Given the description of an element on the screen output the (x, y) to click on. 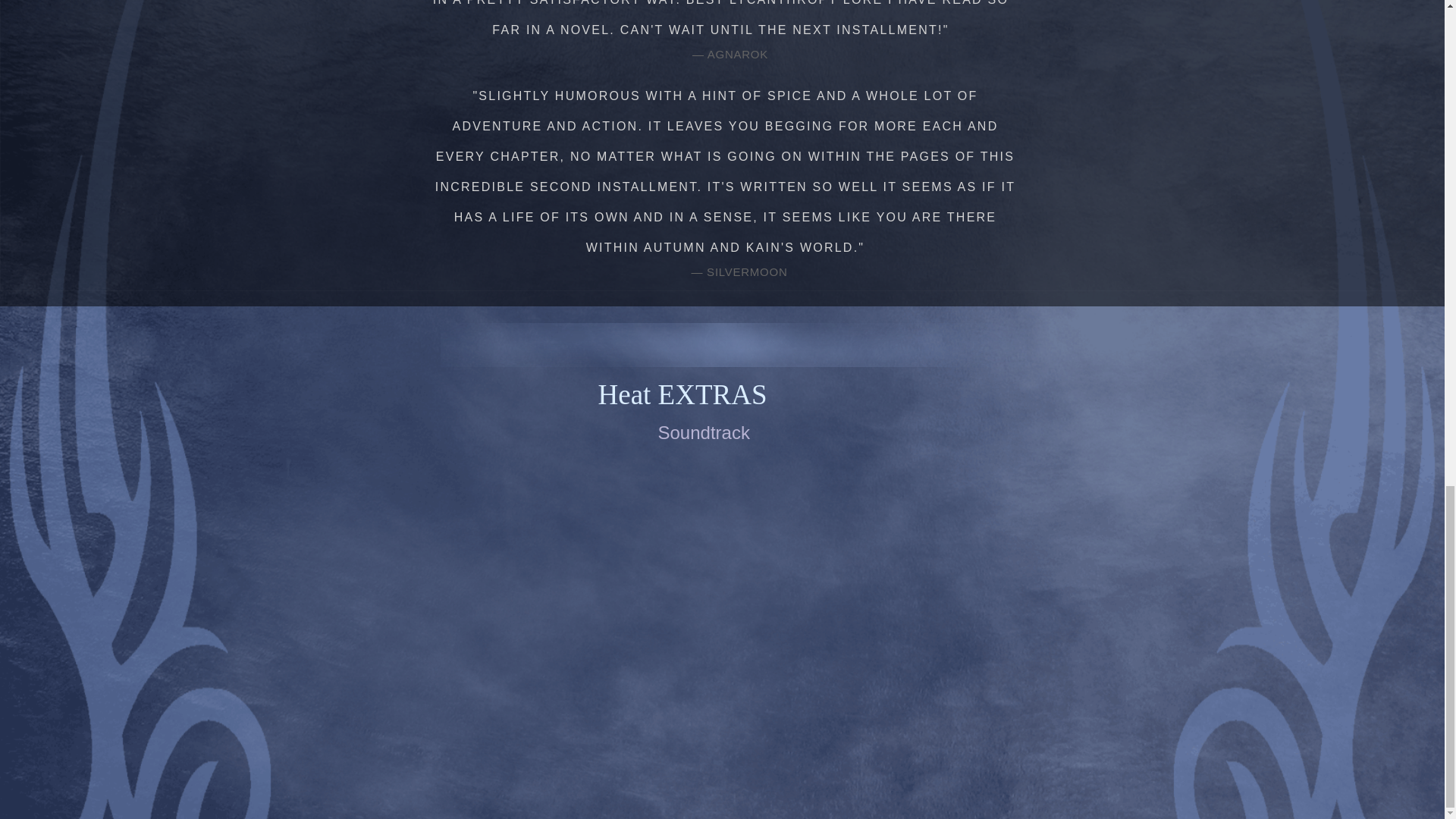
Embedded Content (707, 601)
